Given the description of an element on the screen output the (x, y) to click on. 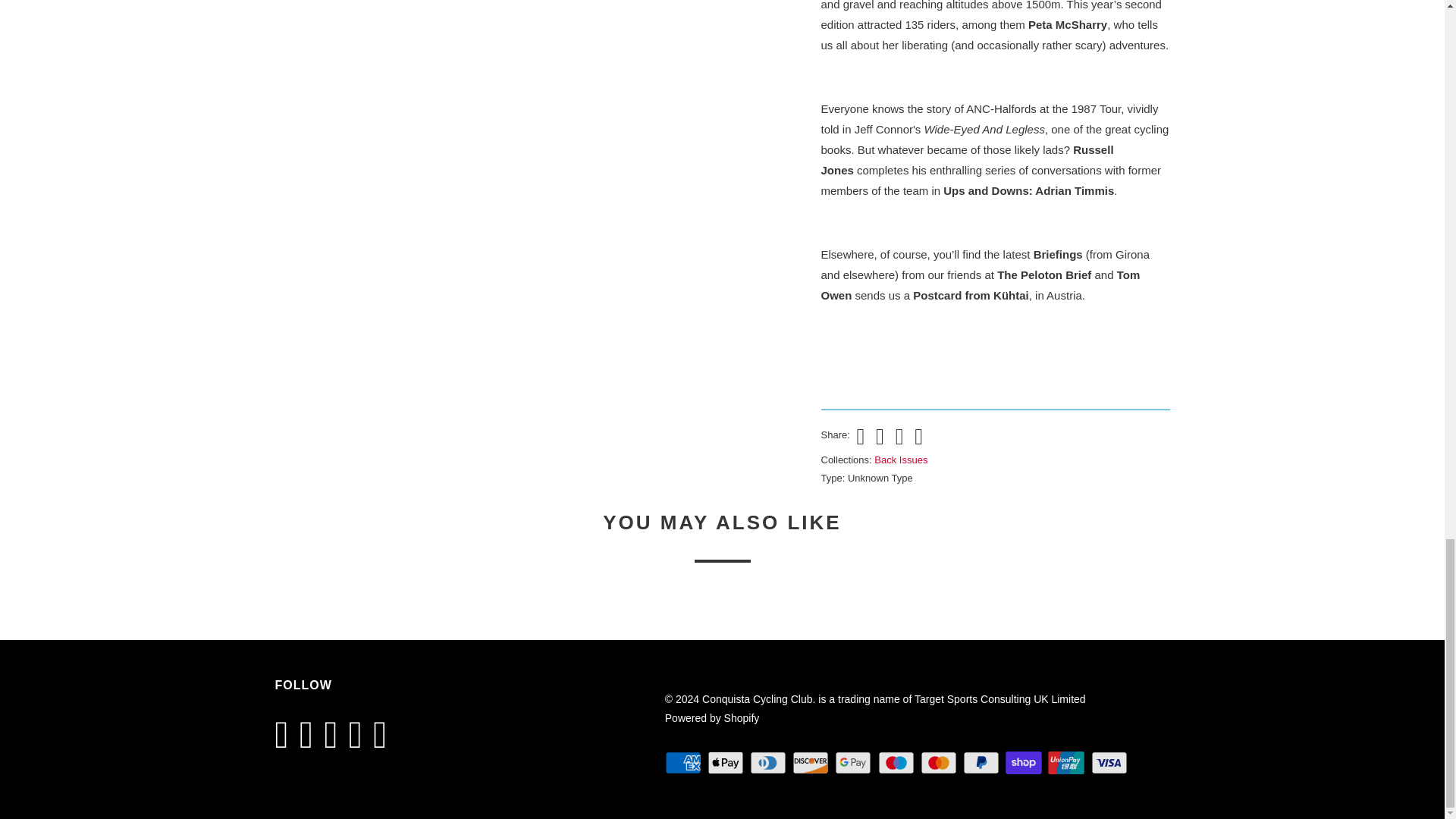
American Express (684, 762)
Union Pay (1067, 762)
Maestro (897, 762)
PayPal (982, 762)
Google Pay (854, 762)
Shop Pay (1025, 762)
Diners Club (769, 762)
Mastercard (939, 762)
Back Issues (901, 460)
Discover (811, 762)
Visa (1109, 762)
Apple Pay (726, 762)
